Given the description of an element on the screen output the (x, y) to click on. 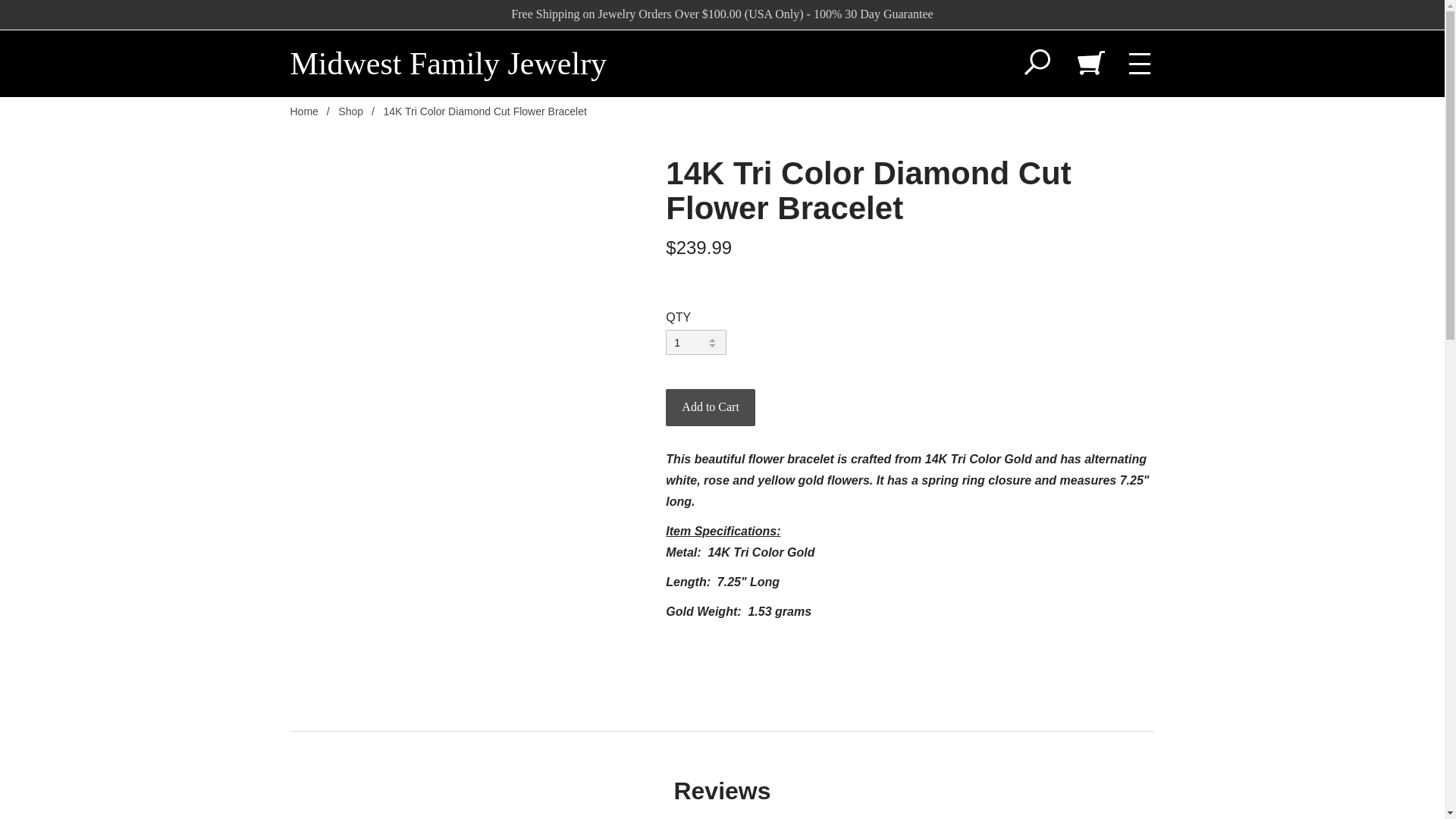
Midwest Family Jewelry (448, 63)
Add to Cart (710, 407)
1 (695, 342)
Home (303, 111)
Shop (349, 111)
Add to Cart (710, 407)
